Given the description of an element on the screen output the (x, y) to click on. 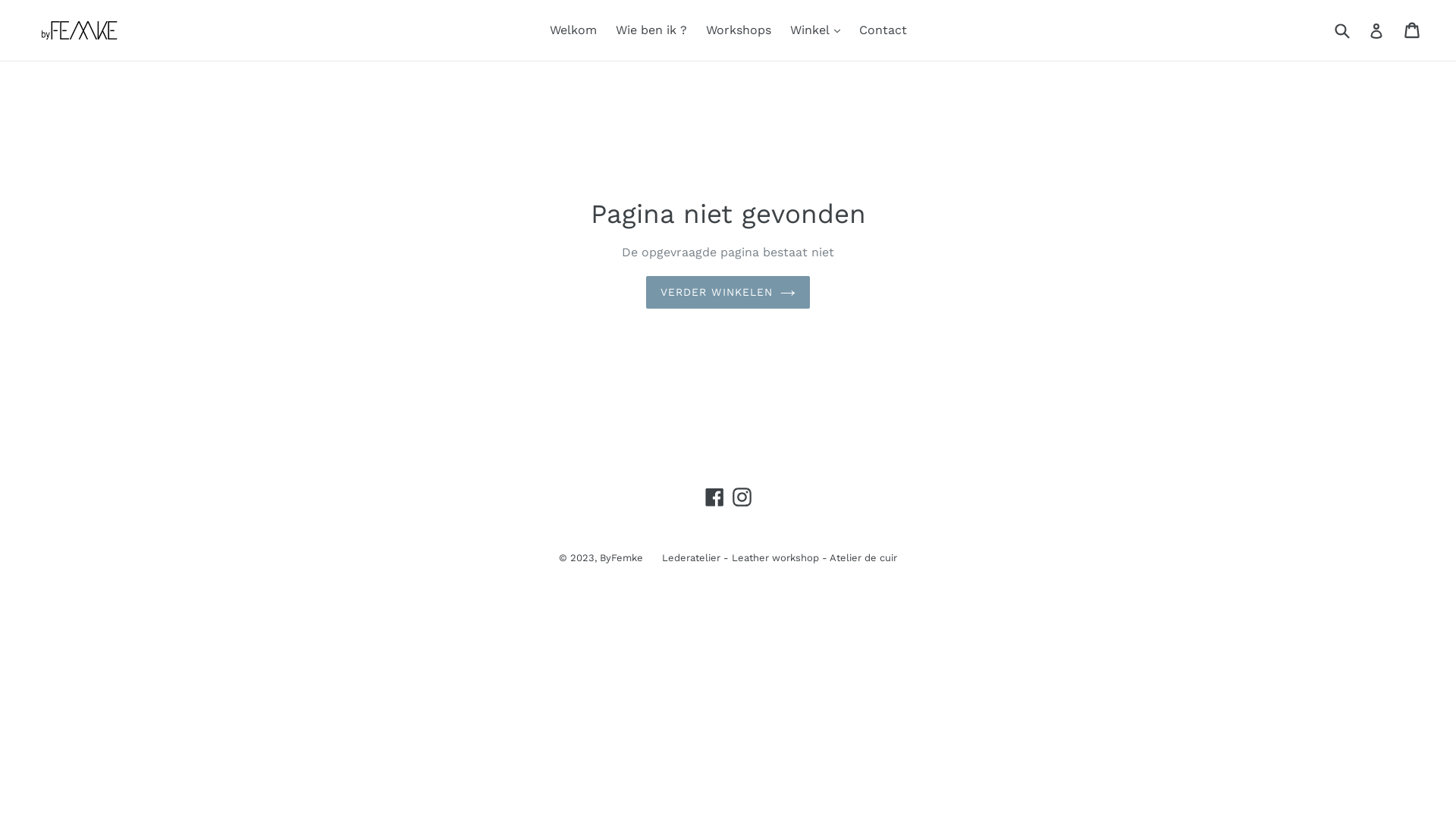
Contact Element type: text (881, 29)
Workshops Element type: text (737, 29)
VERDER WINKELEN Element type: text (728, 292)
ByFemke Element type: text (621, 557)
Facebook Element type: text (713, 496)
Welkom Element type: text (572, 29)
Inloggen Element type: text (1375, 30)
Winkelwagen
Winkelwagen Element type: text (1412, 29)
Instagram Element type: text (741, 496)
Wie ben ik ? Element type: text (651, 29)
Verstuur Element type: text (1341, 29)
